Given the description of an element on the screen output the (x, y) to click on. 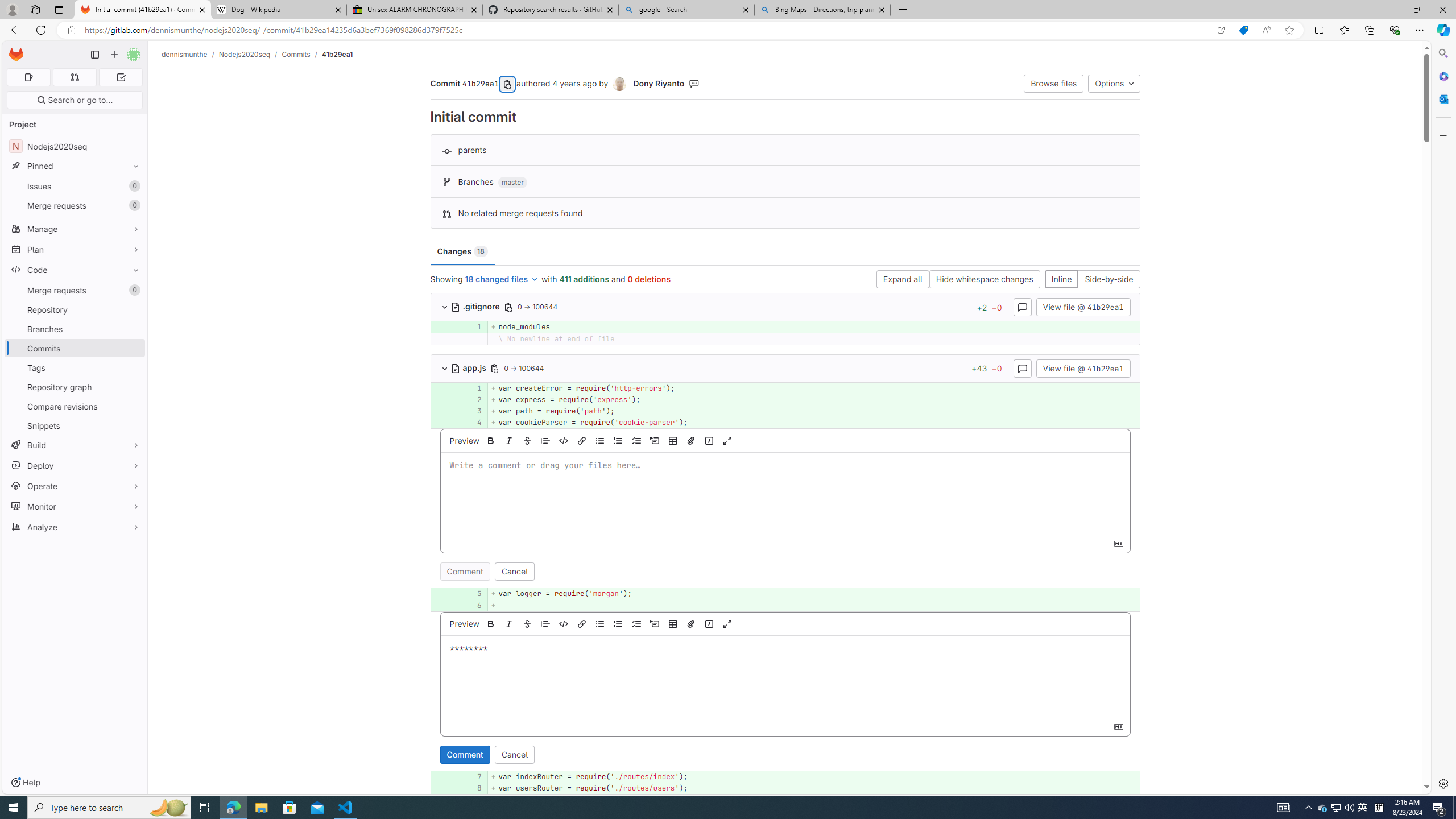
Tags (74, 367)
Pin Repository graph (132, 386)
Deploy (74, 465)
Plan (74, 248)
Assigned issues 0 (28, 76)
Repository (74, 309)
41b29ea1 (337, 53)
Toggle comments for this file (1022, 367)
Open in app (1220, 29)
1 (471, 387)
Commits (295, 53)
Analyze (74, 526)
Hide whitespace changes (983, 279)
Branches (74, 328)
